Given the description of an element on the screen output the (x, y) to click on. 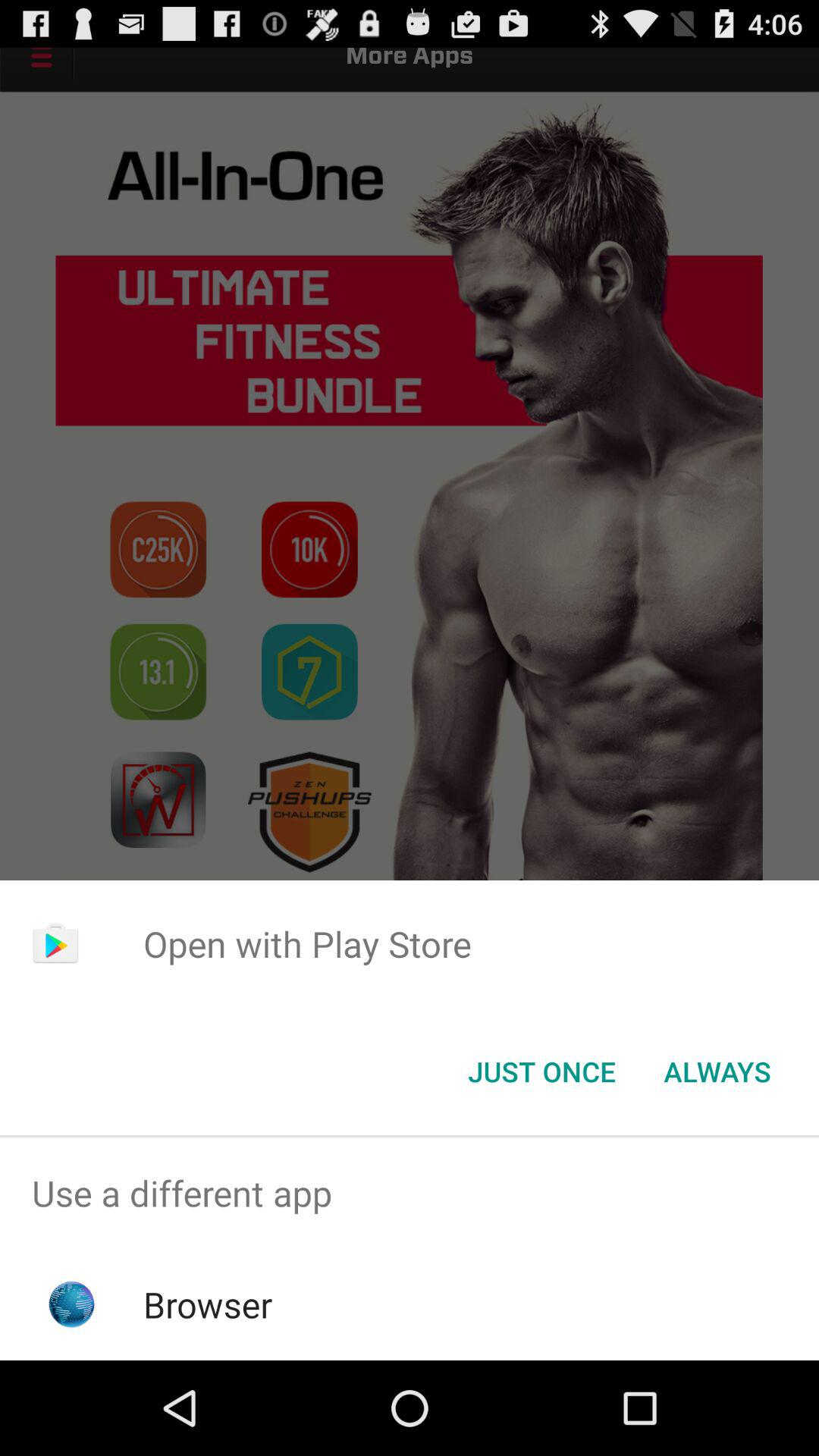
scroll to use a different icon (409, 1192)
